Given the description of an element on the screen output the (x, y) to click on. 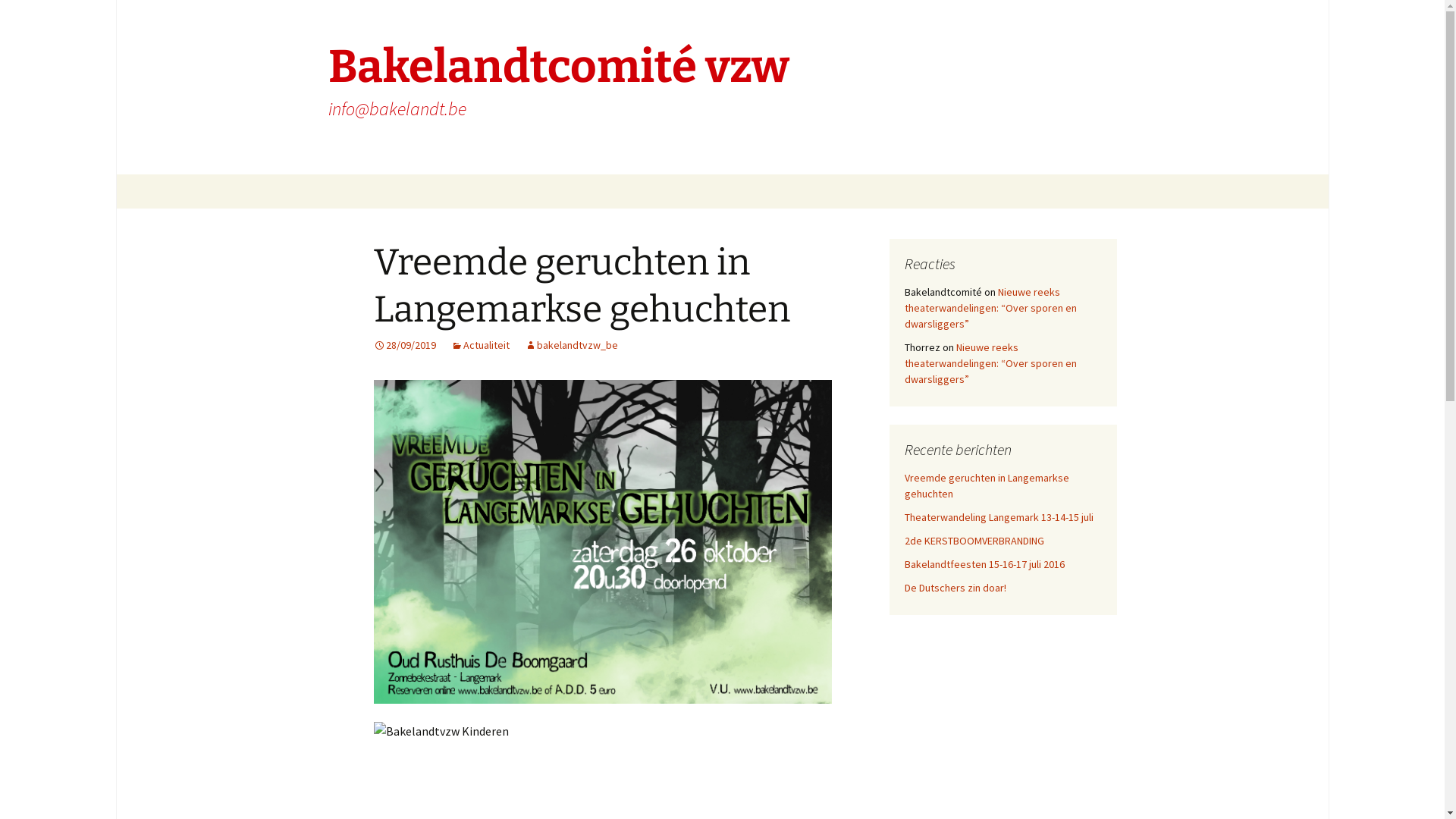
Vreemde geruchten in Langemarkse gehuchten Element type: text (581, 285)
Theaterwandeling Langemark 13-14-15 juli Element type: text (997, 517)
Bakelandtfeesten 15-16-17 juli 2016 Element type: text (983, 564)
2de KERSTBOOMVERBRANDING Element type: text (973, 540)
Search Element type: text (18, 16)
28/09/2019 Element type: text (404, 344)
Actualiteit Element type: text (479, 344)
bakelandtvzw_be Element type: text (571, 344)
Skip to content Element type: text (352, 183)
De Dutschers zin doar! Element type: text (954, 587)
Vreemde geruchten in Langemarkse gehuchten Element type: text (985, 485)
